Given the description of an element on the screen output the (x, y) to click on. 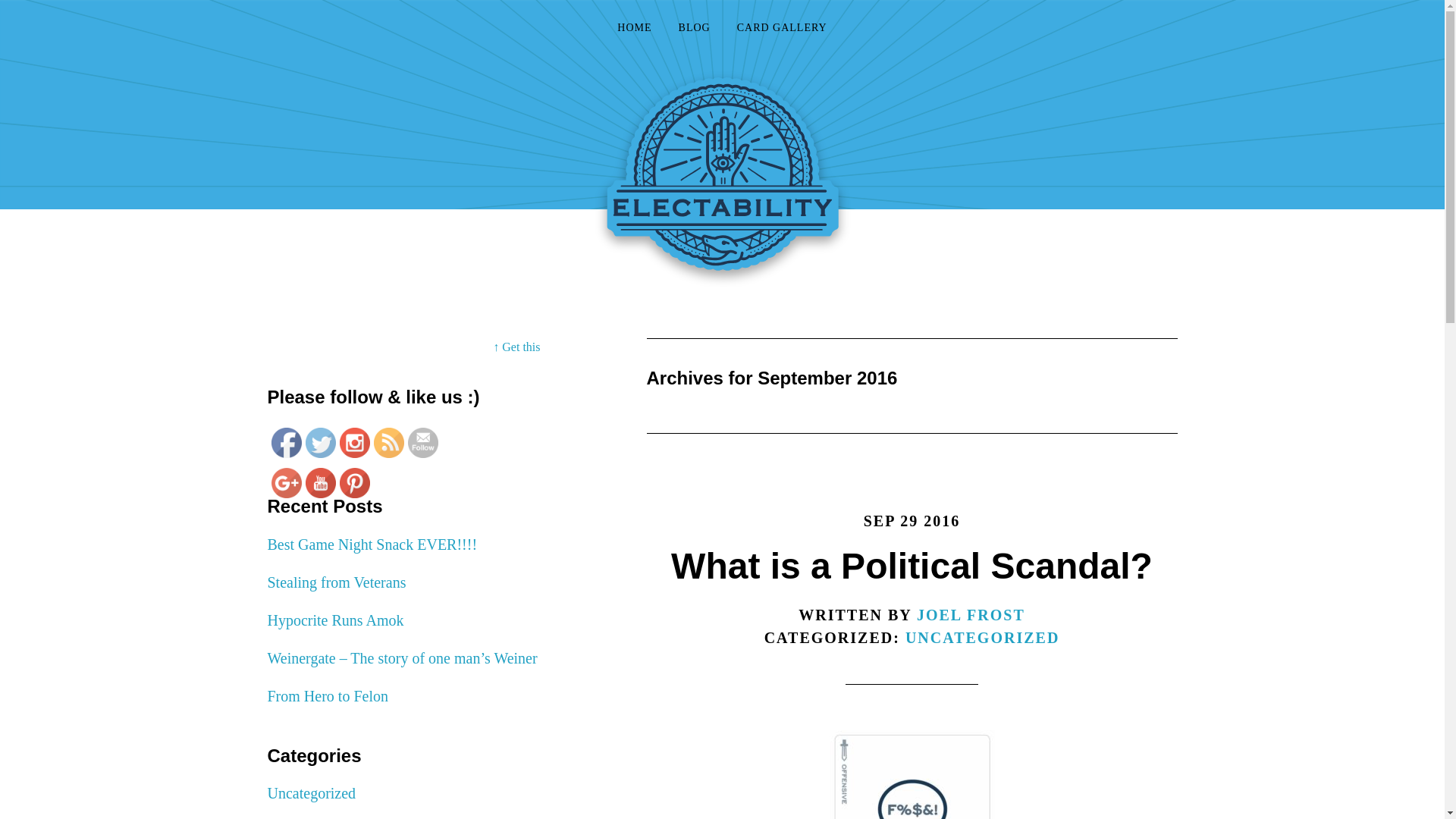
UNCATEGORIZED (982, 637)
JOEL FROST (971, 614)
Stealing from Veterans (336, 582)
From Hero to Felon (326, 695)
YOUTUBE (319, 482)
What is a Political Scandal? (912, 566)
GOOGLE (285, 482)
Hypocrite Runs Amok (334, 619)
Facebook (285, 442)
BLOG (694, 28)
